Given the description of an element on the screen output the (x, y) to click on. 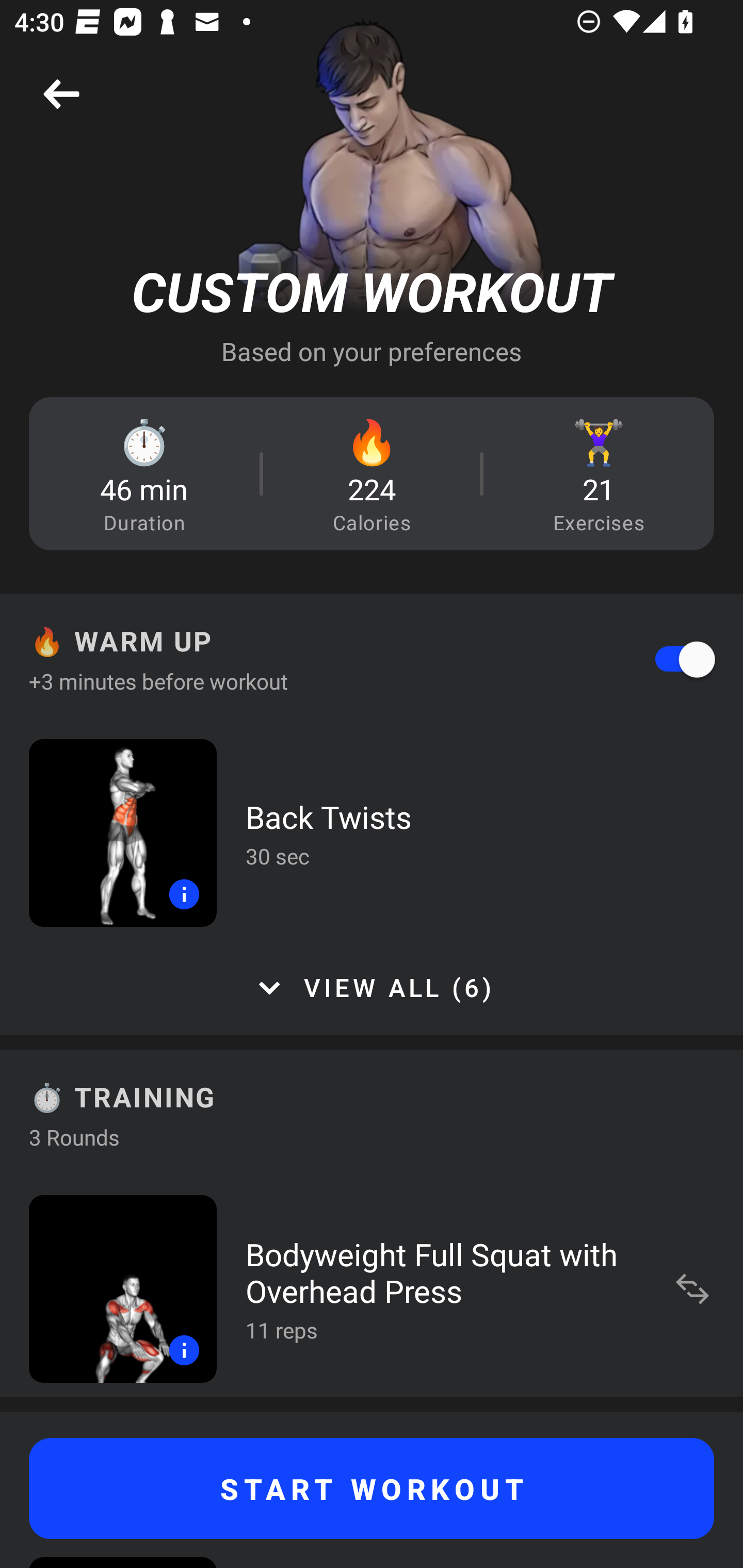
Back Twists 30 sec (371, 832)
VIEW ALL (6) (371, 987)
Bodyweight Full Squat with Overhead Press 11 reps (371, 1288)
START WORKOUT (371, 1488)
